Given the description of an element on the screen output the (x, y) to click on. 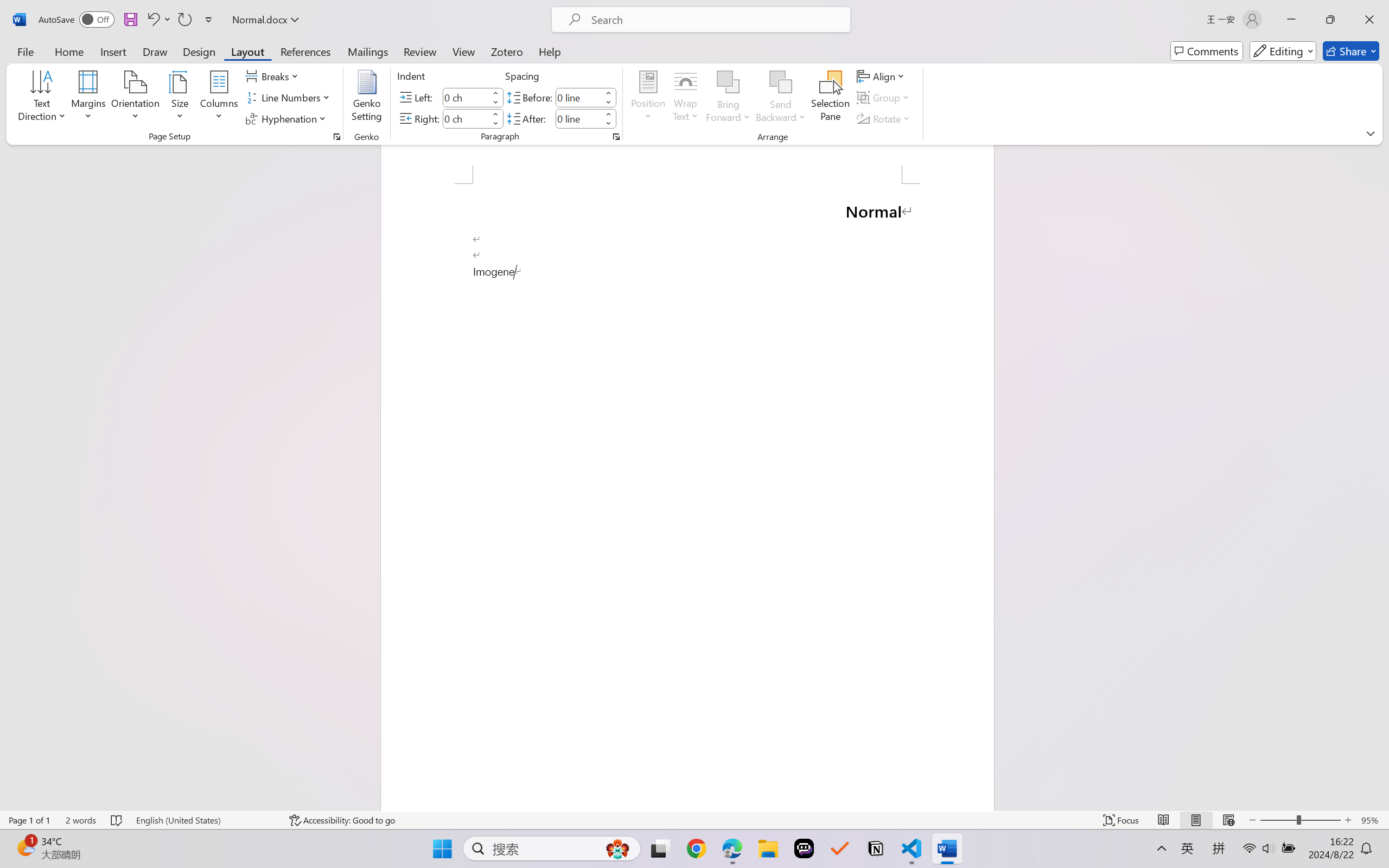
Undo Italic (158, 19)
Page Setup... (336, 136)
Indent Left (465, 96)
Columns (219, 97)
Orientation (135, 97)
Bring Forward (728, 81)
Size (180, 97)
Less (608, 123)
